Given the description of an element on the screen output the (x, y) to click on. 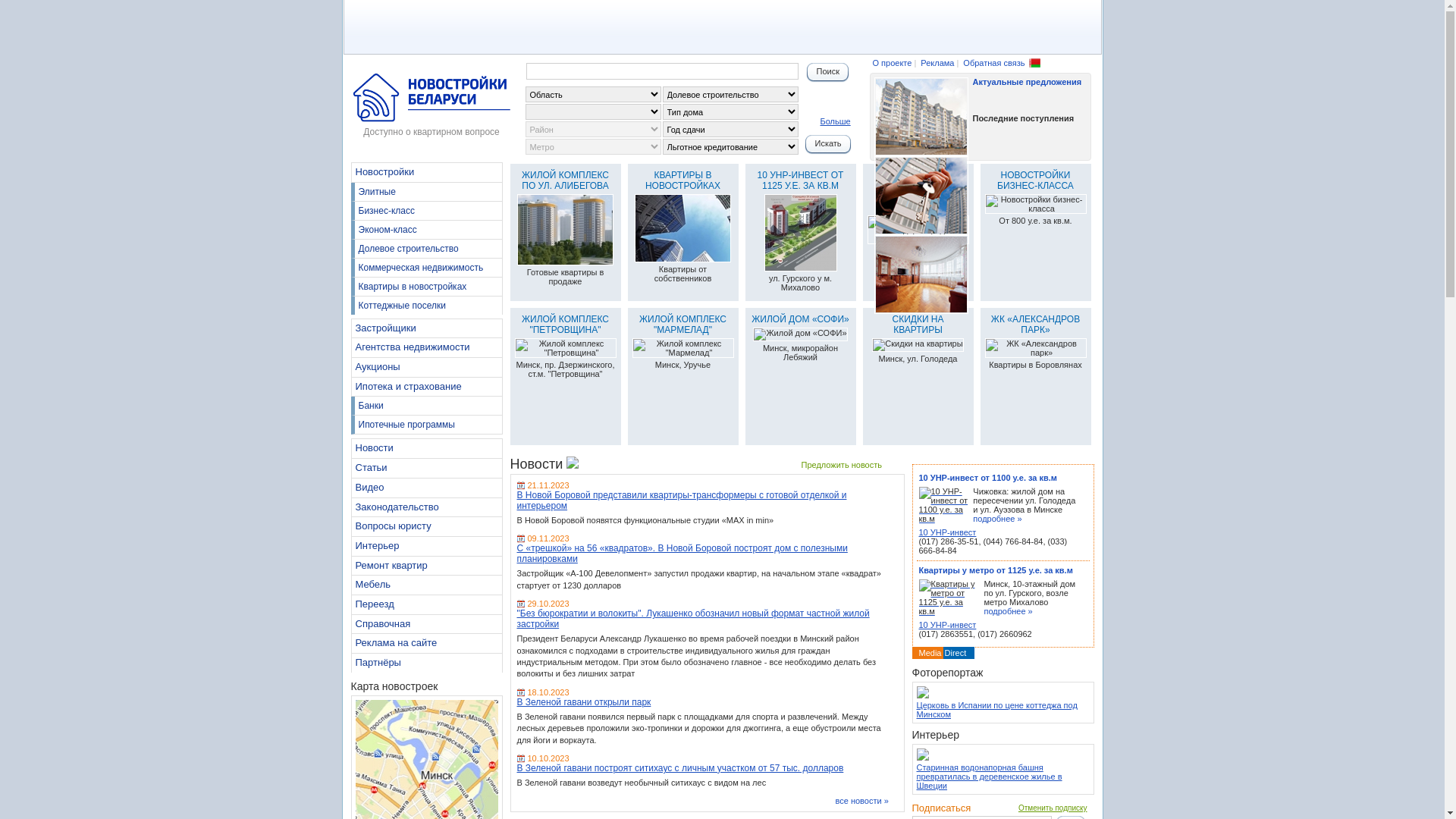
Media Element type: text (930, 652)
Direct Element type: text (955, 652)
